Given the description of an element on the screen output the (x, y) to click on. 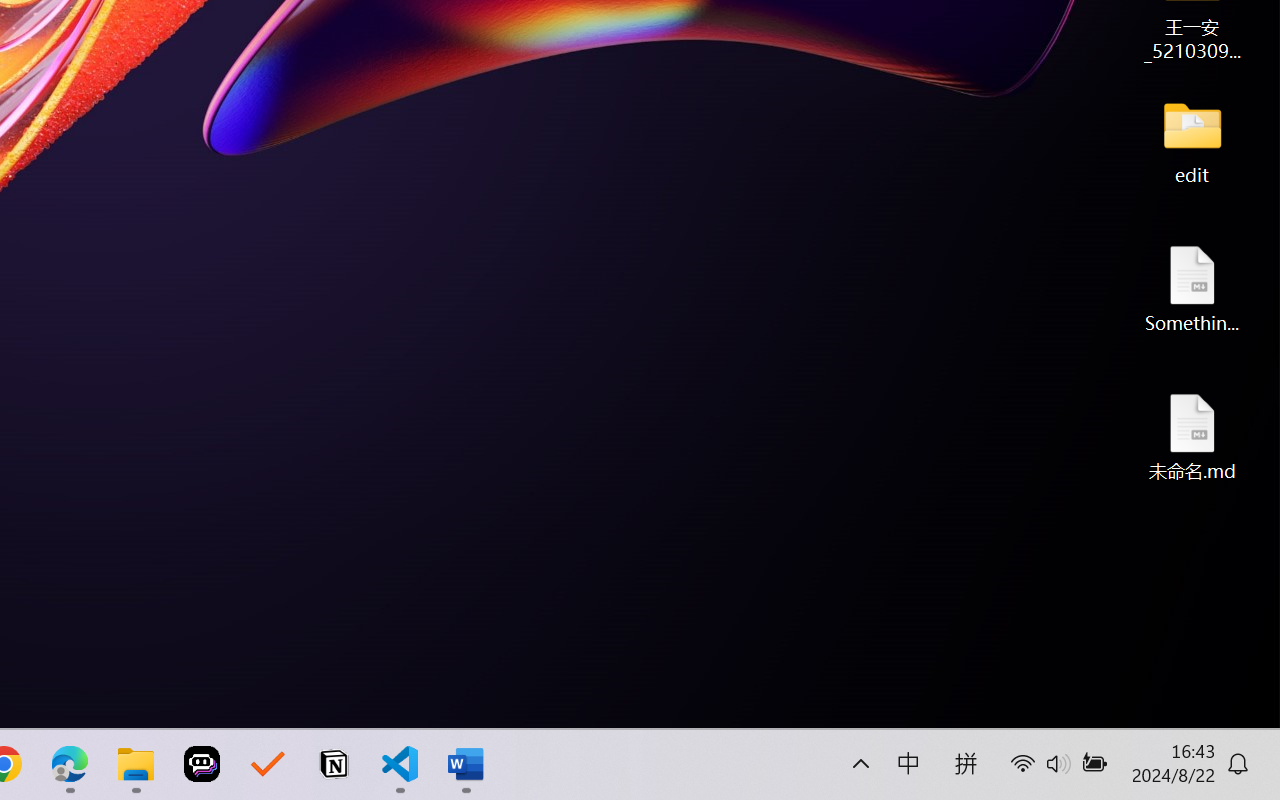
Something.md (1192, 288)
